Given the description of an element on the screen output the (x, y) to click on. 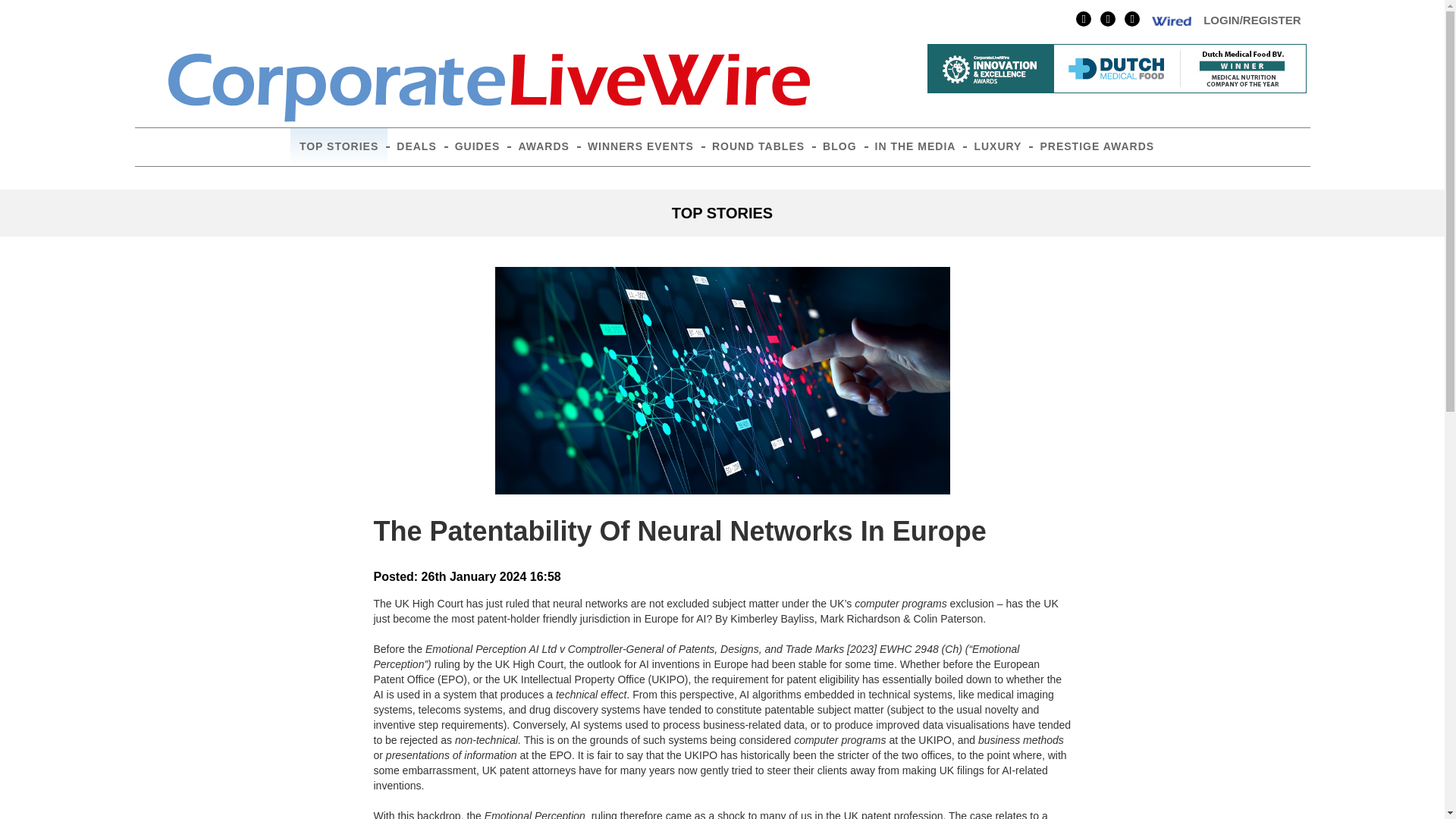
GUIDES (477, 146)
AWARDS (543, 146)
TOP STORIES (338, 146)
DEALS (416, 146)
